Given the description of an element on the screen output the (x, y) to click on. 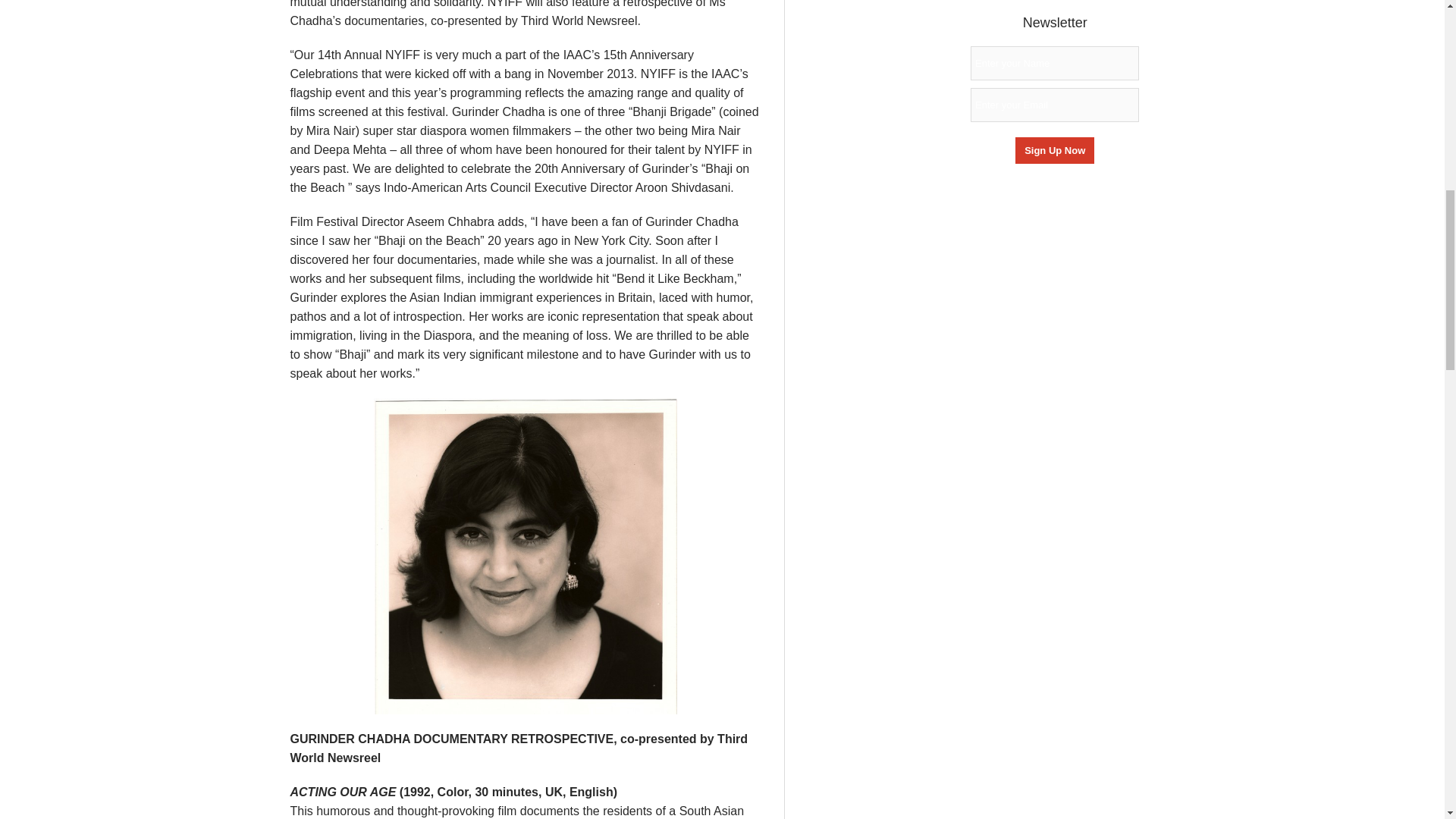
Sign Up Now (1054, 150)
